Given the description of an element on the screen output the (x, y) to click on. 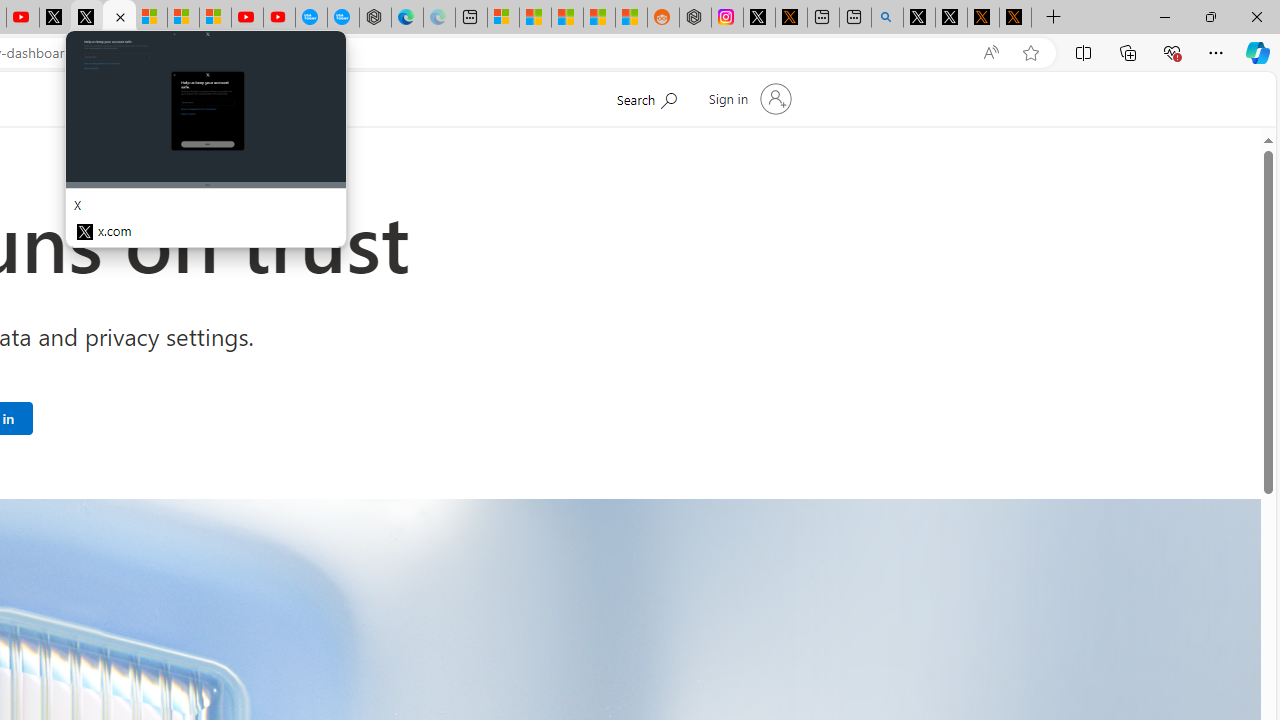
github - Search (886, 17)
Shanghai, China hourly forecast | Microsoft Weather (566, 17)
X Privacy Policy (1014, 17)
Search Microsoft.com (646, 97)
